Given the description of an element on the screen output the (x, y) to click on. 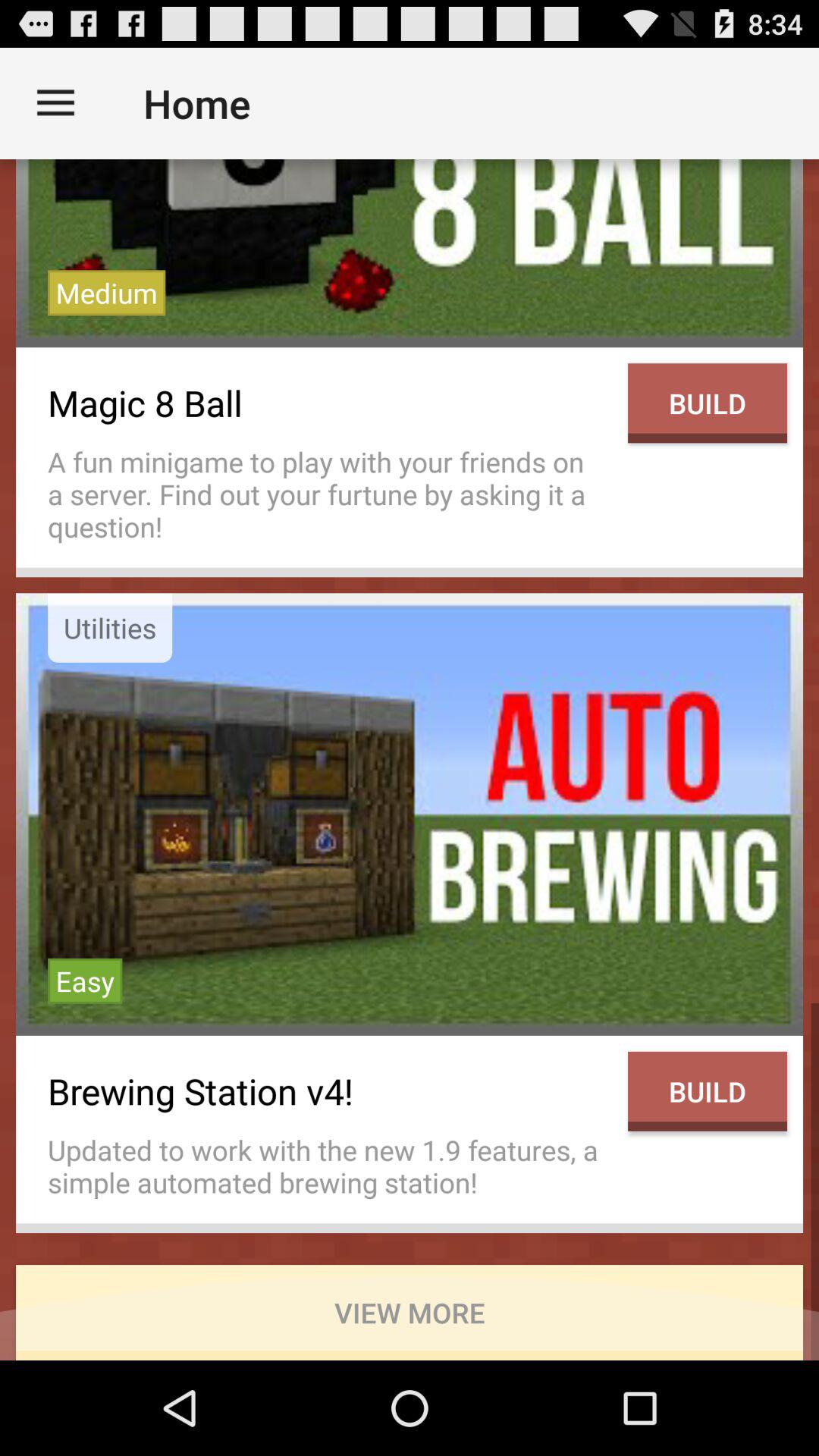
turn on item next to the home item (55, 103)
